Given the description of an element on the screen output the (x, y) to click on. 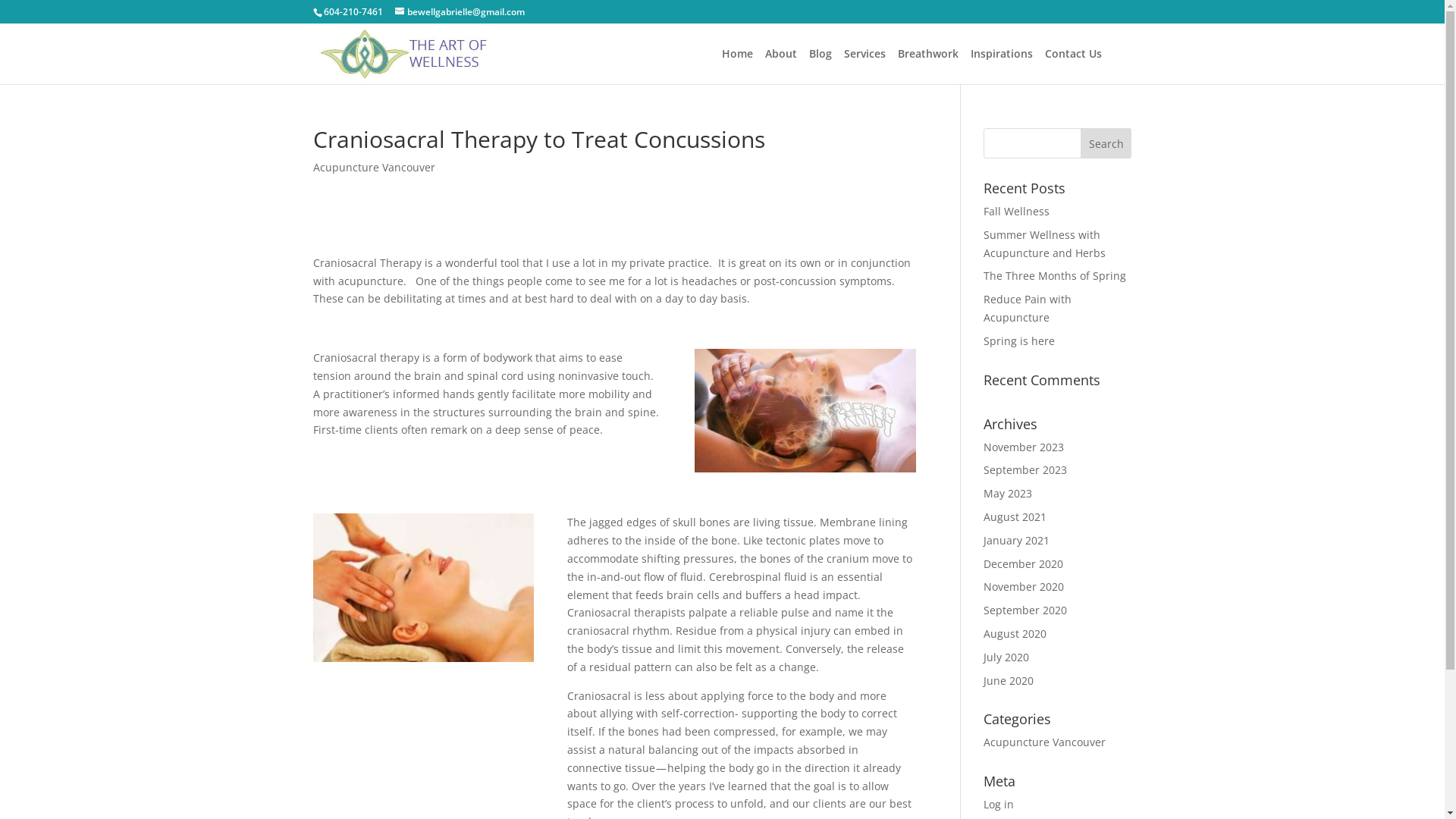
September 2020 Element type: text (1024, 609)
Summer Wellness with Acupuncture and Herbs Element type: text (1044, 243)
Blog Element type: text (819, 66)
Contact Us Element type: text (1072, 66)
July 2020 Element type: text (1006, 656)
August 2020 Element type: text (1014, 633)
Reduce Pain with Acupuncture Element type: text (1027, 307)
Spring is here Element type: text (1018, 340)
May 2023 Element type: text (1007, 493)
September 2023 Element type: text (1024, 469)
08-1 Element type: hover (805, 410)
Log in Element type: text (998, 804)
Acupuncture Vancouver Element type: text (373, 167)
Home Element type: text (737, 66)
December 2020 Element type: text (1023, 563)
bewellgabrielle@gmail.com Element type: text (459, 11)
Acupuncture Vancouver Element type: text (1044, 741)
January 2021 Element type: text (1016, 540)
Search Element type: text (1106, 143)
Breathwork Element type: text (927, 66)
The Three Months of Spring Element type: text (1054, 275)
November 2020 Element type: text (1023, 586)
November 2023 Element type: text (1023, 446)
Fall Wellness Element type: text (1016, 210)
Services Element type: text (863, 66)
Inspirations Element type: text (1001, 66)
08-3-300x201 Element type: hover (422, 587)
August 2021 Element type: text (1014, 516)
About Element type: text (780, 66)
June 2020 Element type: text (1008, 680)
